Given the description of an element on the screen output the (x, y) to click on. 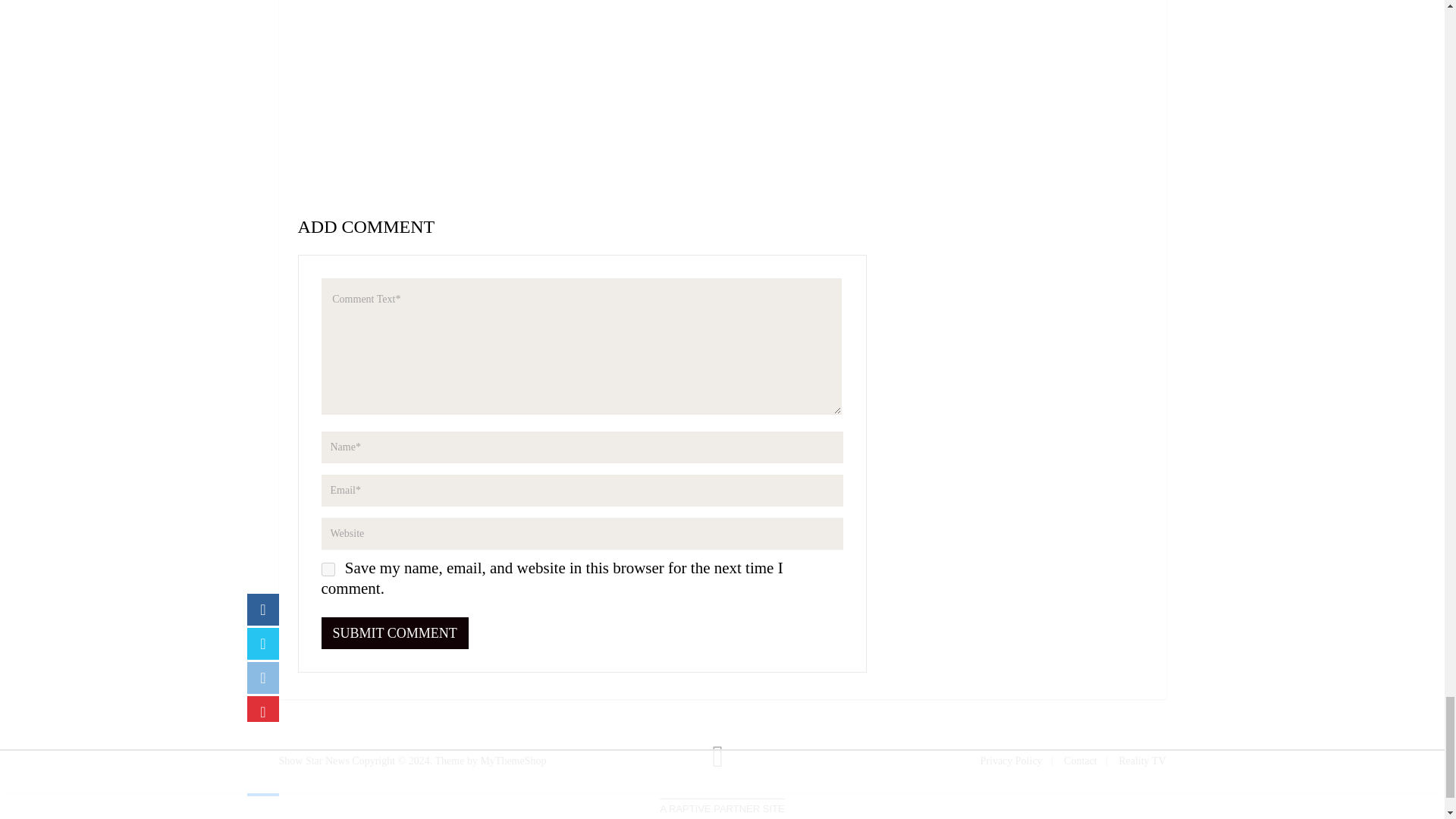
yes (327, 569)
Submit Comment (394, 633)
